Given the description of an element on the screen output the (x, y) to click on. 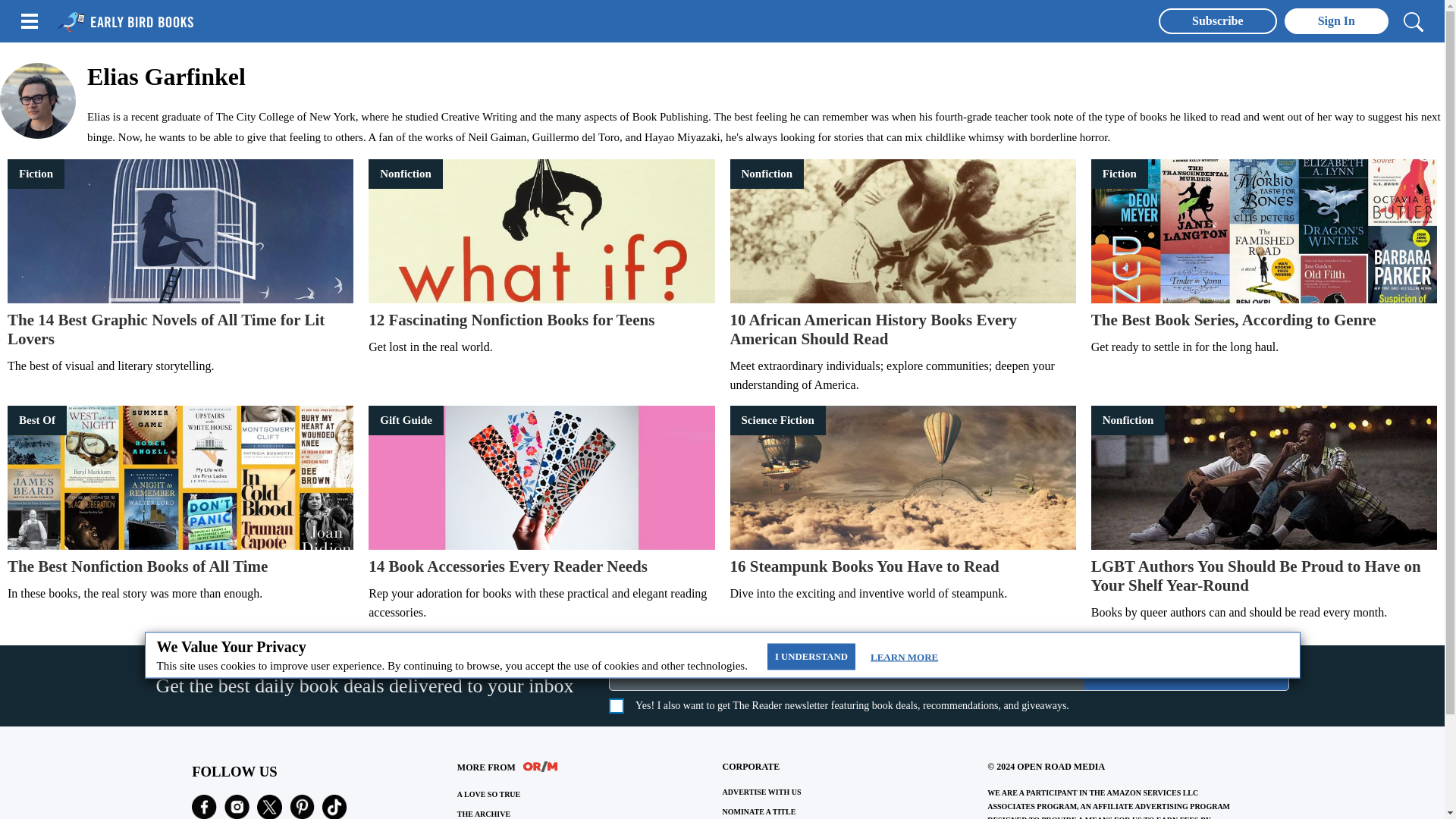
Nonfiction (902, 477)
Nonfiction (1263, 320)
Subscribe (902, 309)
Facebook (1263, 556)
12 Fascinating Nonfiction Books for Teens (902, 566)
The 14 Best Graphic Novels of All Time for Lit Lovers (180, 566)
The 14 Best Graphic Novels of All Time for Lit Lovers (1186, 673)
